Given the description of an element on the screen output the (x, y) to click on. 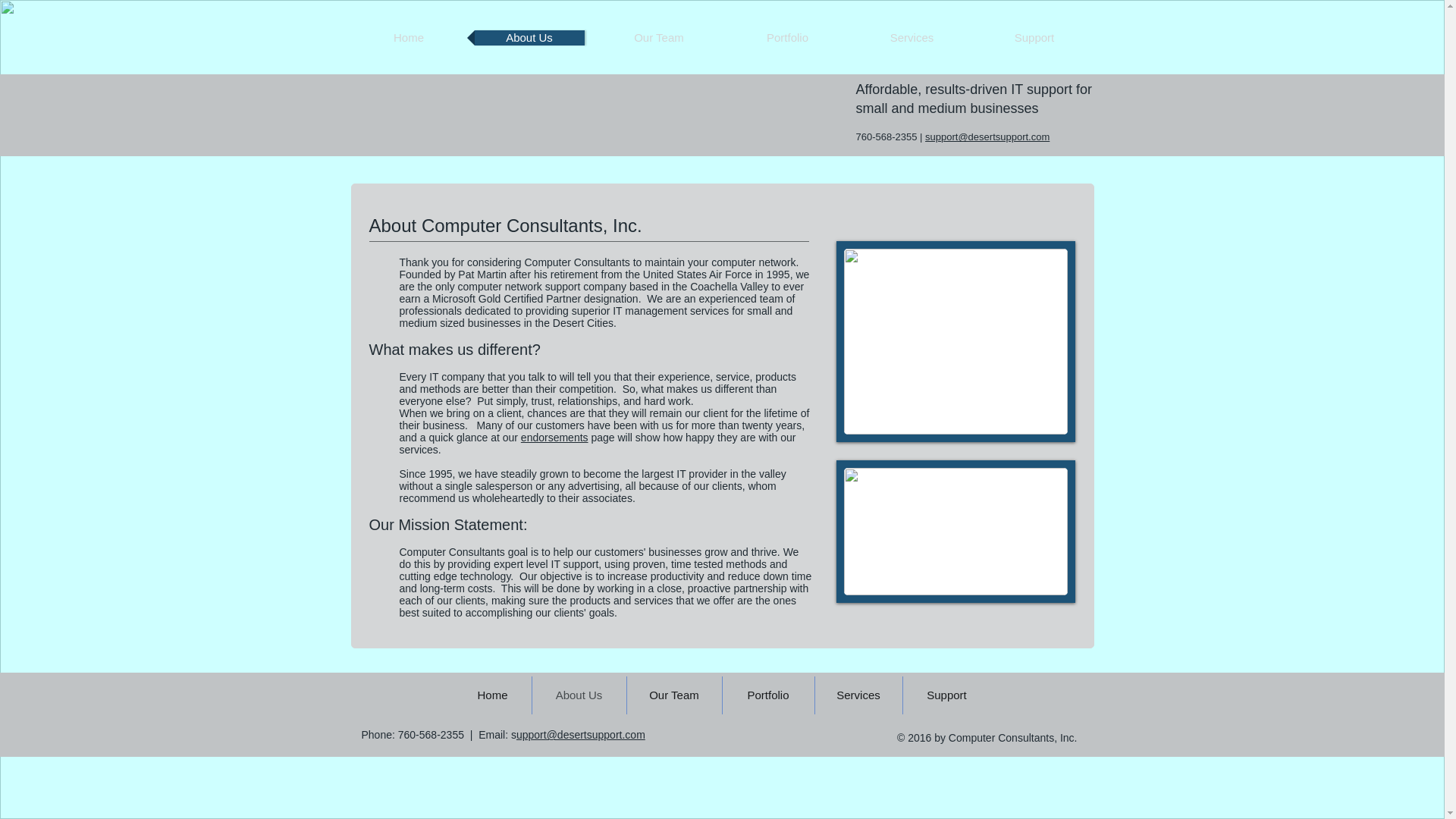
Home (491, 695)
About Us (529, 37)
team.jpg (955, 341)
Services (911, 37)
Support (946, 695)
Our Team (658, 37)
Portfolio (767, 695)
Support (1034, 37)
Portfolio (787, 37)
home-photo.jpg (955, 531)
Our Team (673, 695)
Home (409, 37)
endorsements (554, 437)
About Us (579, 695)
Services (857, 695)
